Given the description of an element on the screen output the (x, y) to click on. 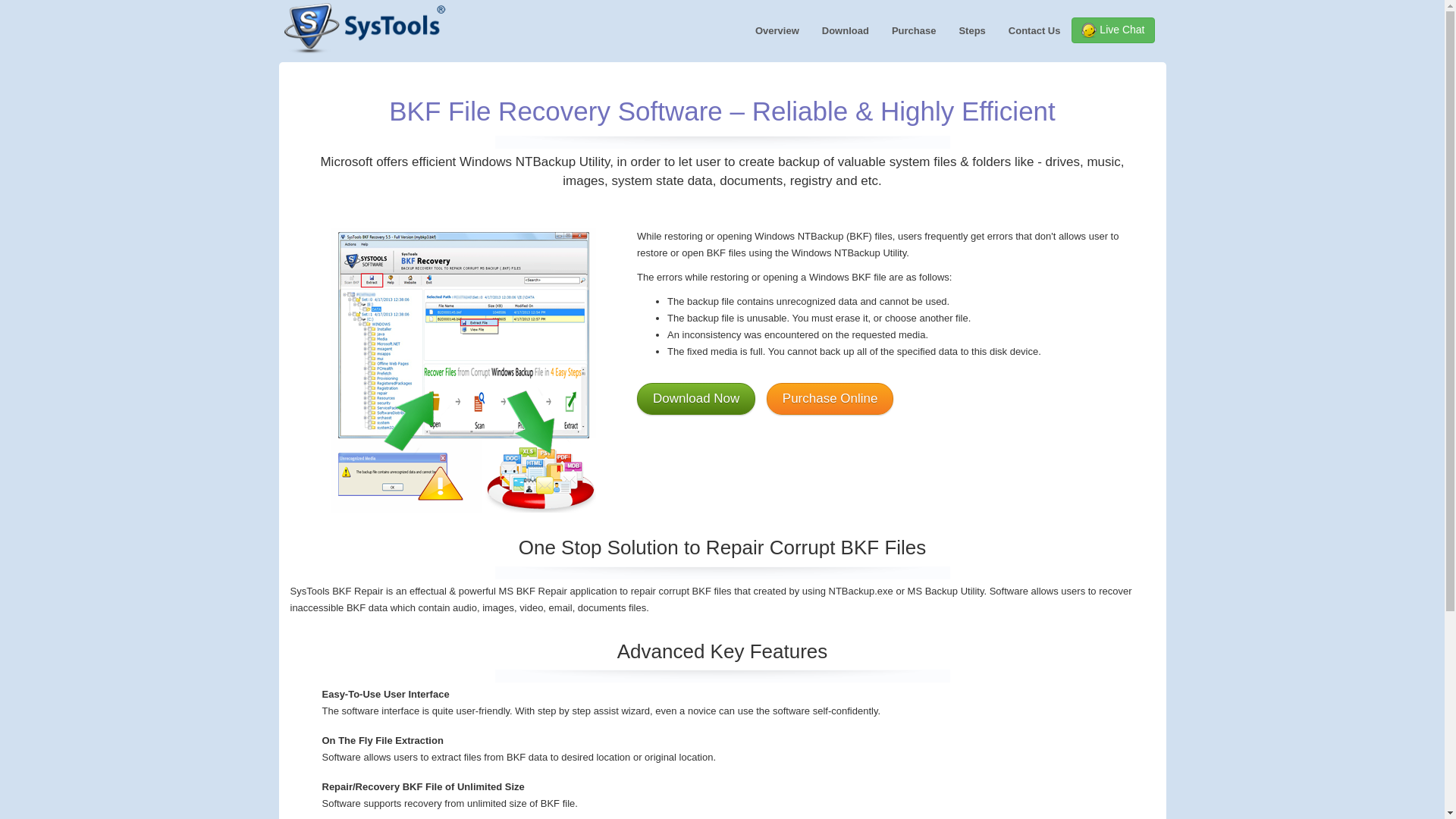
Contact Us (1034, 30)
Overview (777, 30)
Download Now (695, 398)
Purchase (913, 30)
Live Chat (1112, 30)
Purchase Online (830, 398)
Download (845, 30)
